Given the description of an element on the screen output the (x, y) to click on. 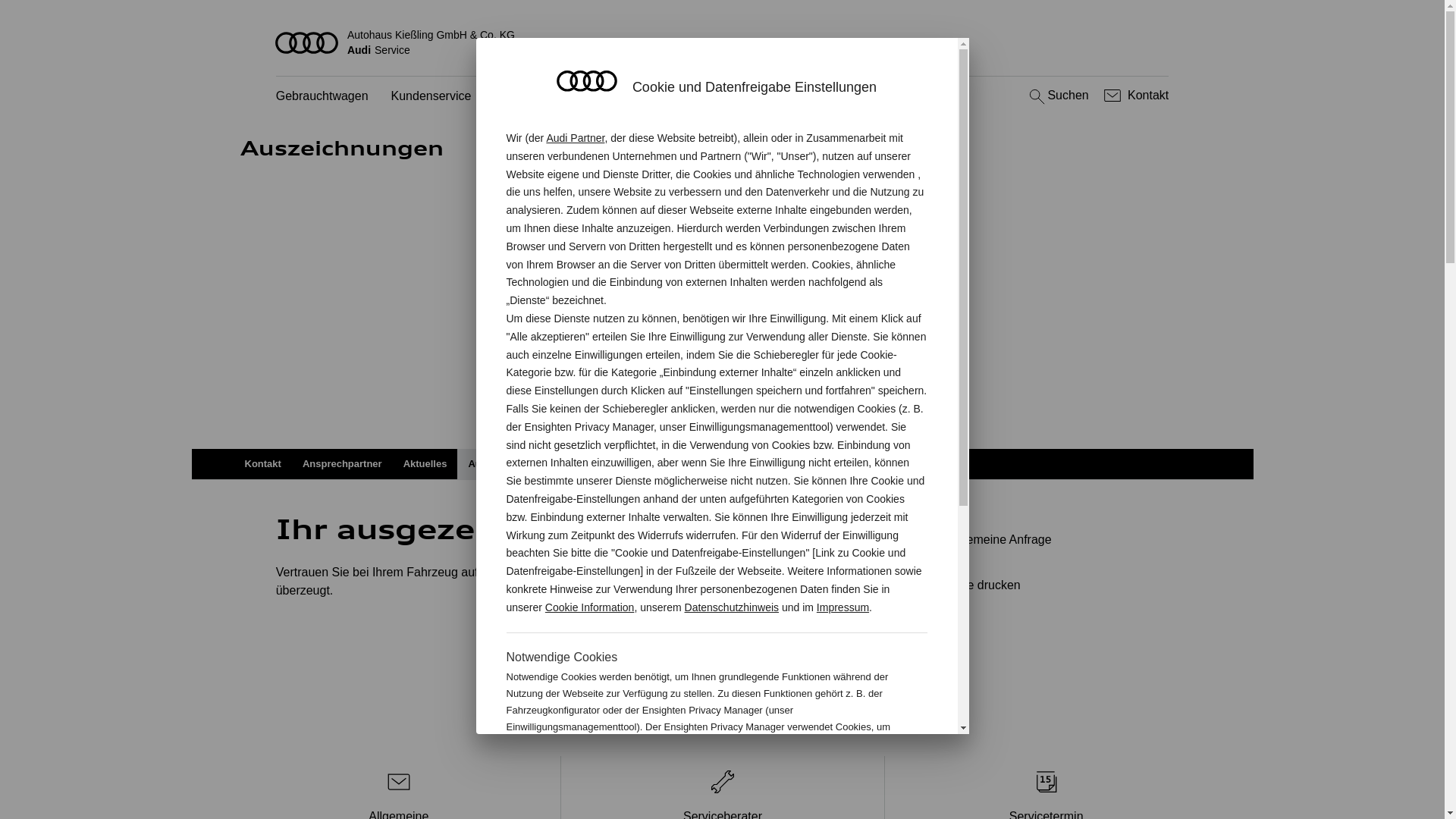
Audi Partner Element type: text (575, 137)
Ansprechpartner Element type: text (341, 463)
Kontakt Element type: text (1134, 95)
Aktuelles Element type: text (425, 463)
Suchen Element type: text (1056, 95)
Kontakt Element type: text (262, 463)
Allgemeine Anfrage Element type: text (1038, 539)
Cookie Information Element type: text (589, 607)
Cookie Information Element type: text (847, 776)
Datenschutzhinweis Element type: text (731, 607)
Impressum Element type: text (842, 607)
Karriere Element type: text (763, 463)
Kundenservice Element type: text (431, 96)
Veranstaltungen Element type: text (606, 463)
Gebrauchtwagen Element type: text (322, 96)
Online Shop Element type: text (695, 463)
Auszeichnungen Element type: text (507, 463)
Seite drucken Element type: text (1044, 585)
